Given the description of an element on the screen output the (x, y) to click on. 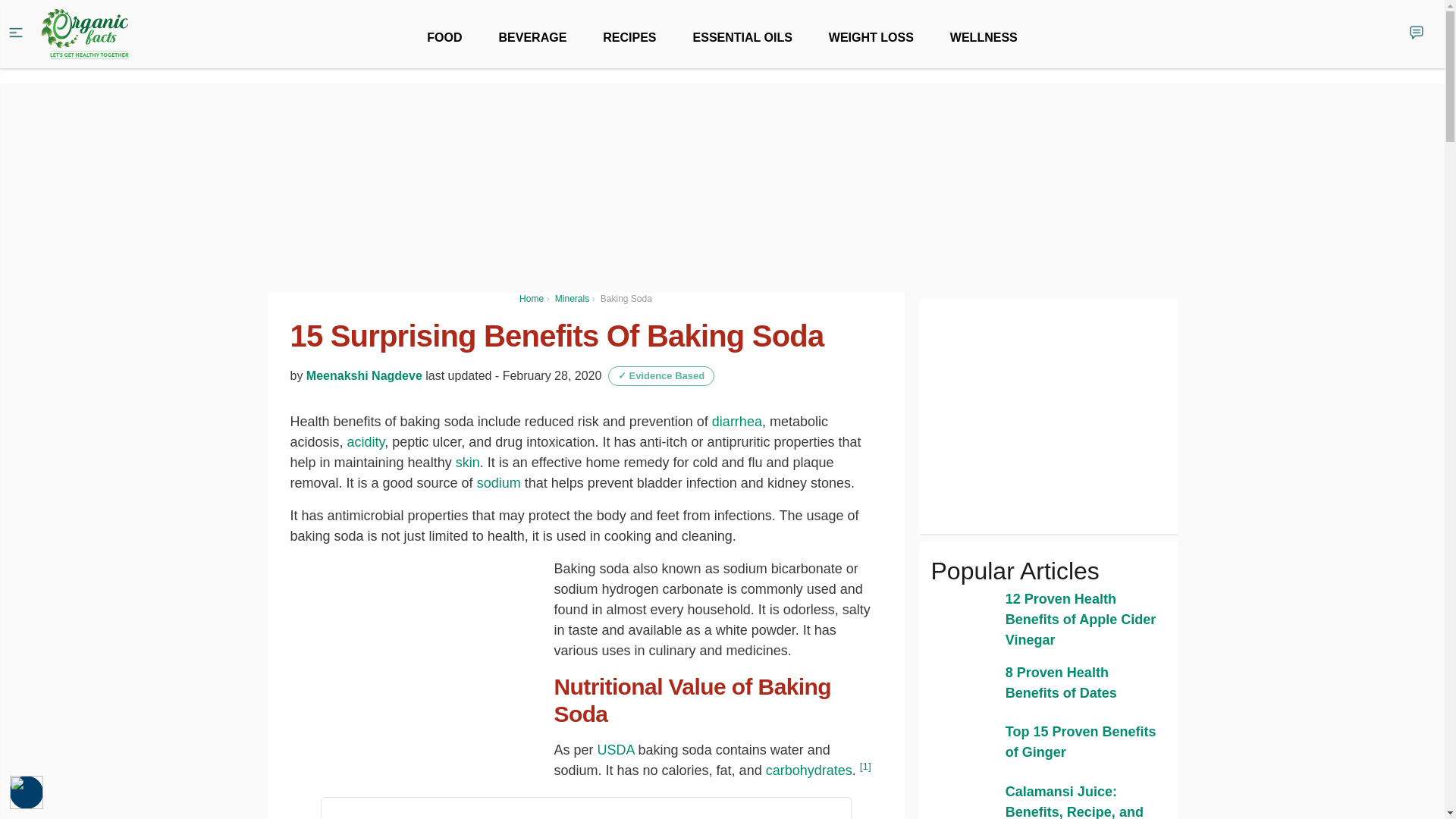
Organic Facts (85, 34)
Meenakshi Nagdeve (363, 375)
Accessibility Menu (26, 792)
